Given the description of an element on the screen output the (x, y) to click on. 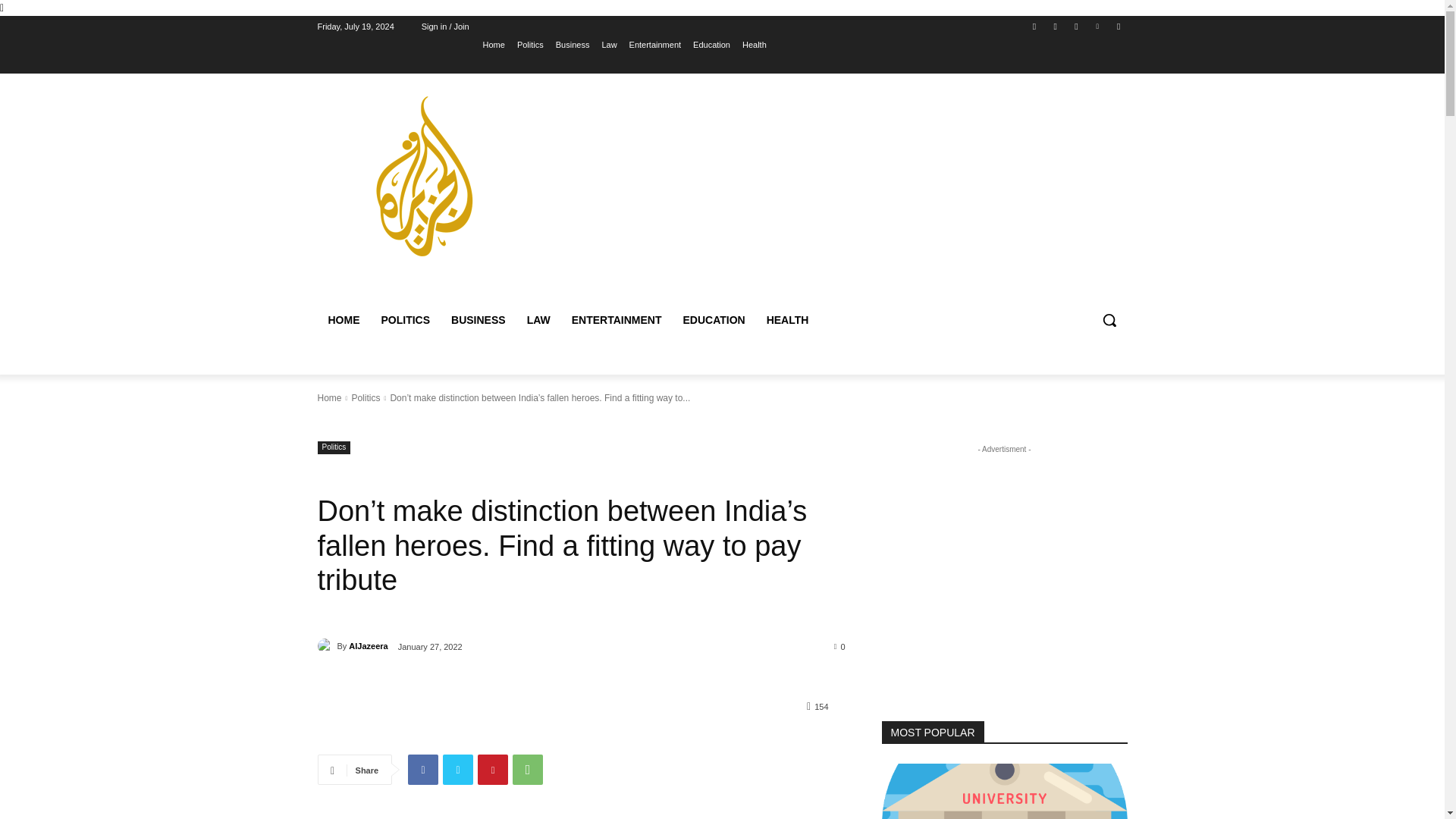
Entertainment (654, 44)
HEALTH (787, 320)
Politics (365, 398)
Youtube (1117, 27)
Pinterest (492, 769)
Instagram (1055, 27)
ENTERTAINMENT (616, 320)
POLITICS (405, 320)
HOME (343, 320)
AlJazeera (326, 645)
Twitter (457, 769)
BUSINESS (478, 320)
View all posts in Politics (365, 398)
0 (839, 645)
EDUCATION (713, 320)
